Given the description of an element on the screen output the (x, y) to click on. 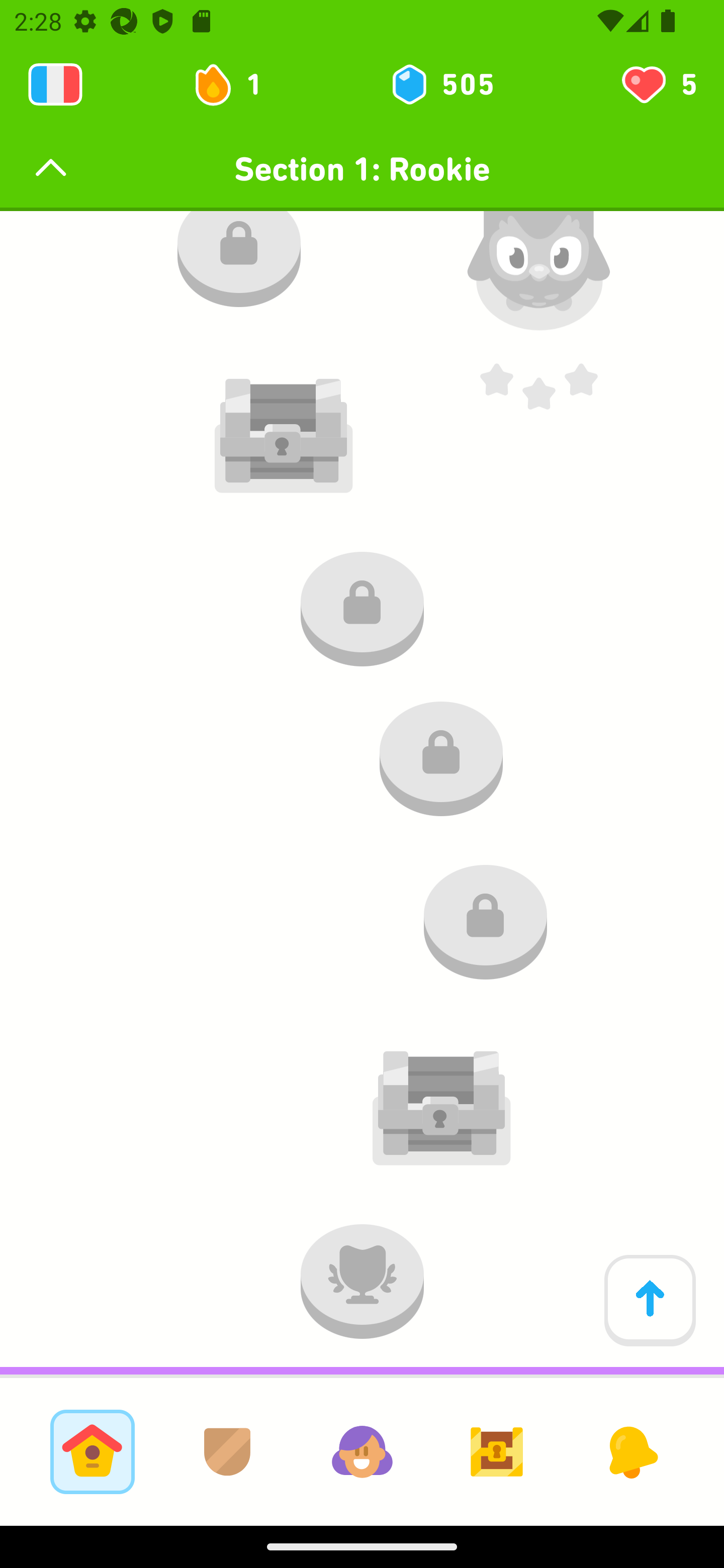
Learning 2131888976 (55, 84)
1 day streak 1 (236, 84)
505 (441, 84)
You have 5 hearts left 5 (657, 84)
Section 1: Rookie (362, 169)
Learn Tab (91, 1451)
Leagues Tab (227, 1451)
Profile Tab (361, 1451)
Goals Tab (496, 1451)
News Tab (631, 1451)
